Given the description of an element on the screen output the (x, y) to click on. 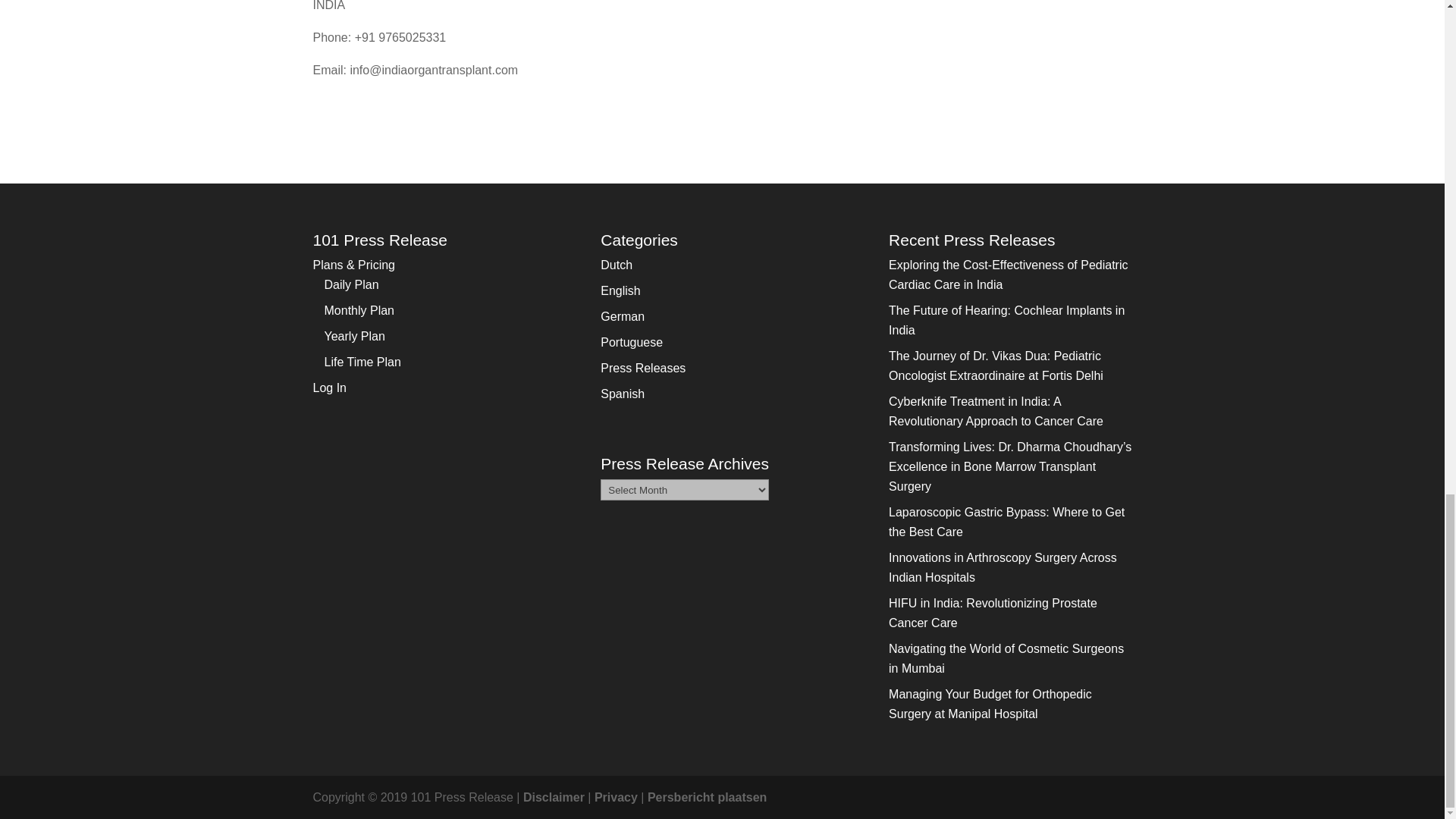
Life Time Plan (362, 361)
HIFU in India: Revolutionizing Prostate Cancer Care (992, 613)
Privacy (615, 797)
Yearly Plan (354, 336)
The Future of Hearing: Cochlear Implants in India (1006, 319)
Log In (329, 387)
Disclaimer (553, 797)
Persbericht plaatsen (707, 797)
German (622, 316)
Daily Plan (351, 284)
